Given the description of an element on the screen output the (x, y) to click on. 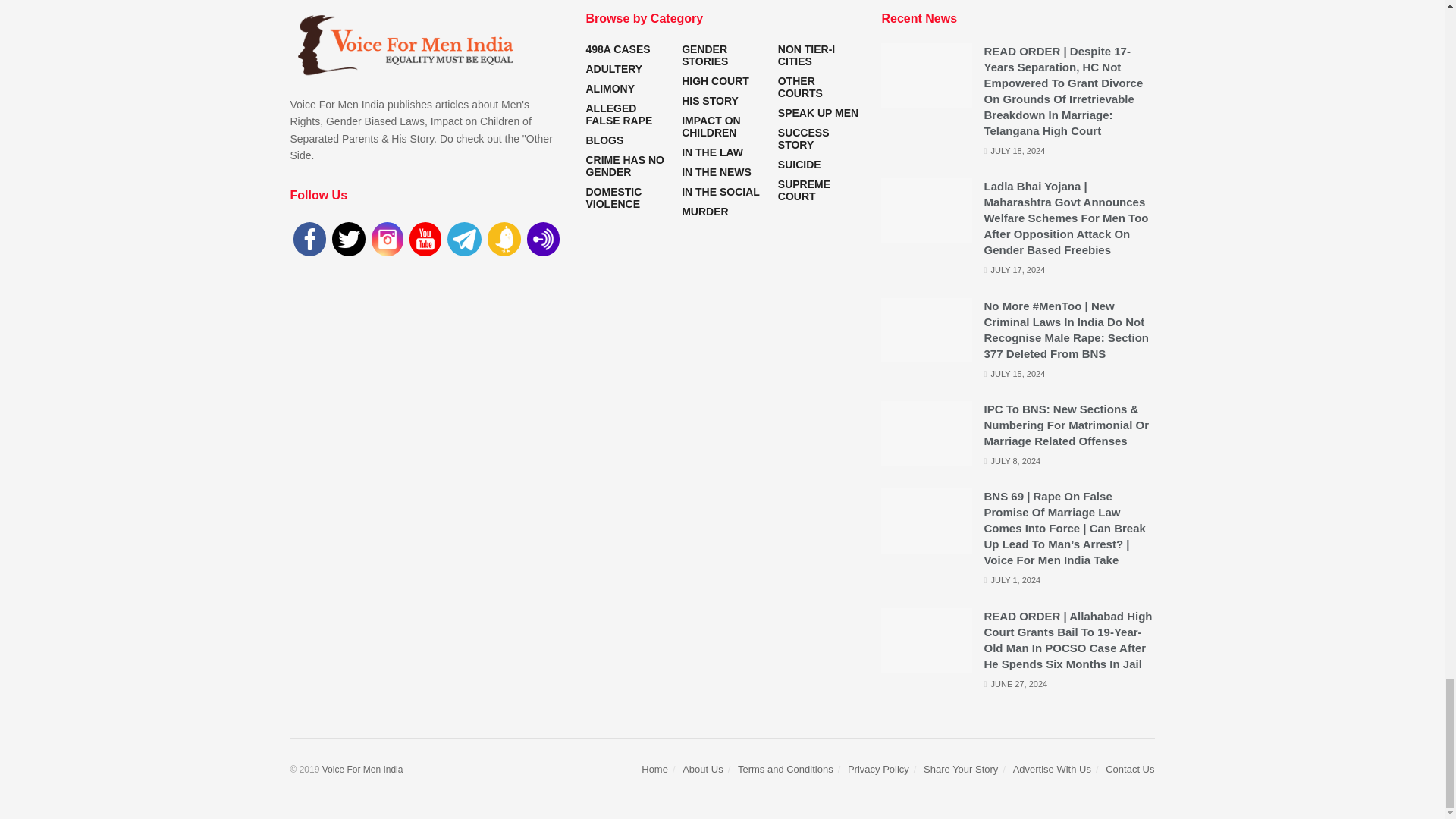
Voice For Men India (362, 769)
